Given the description of an element on the screen output the (x, y) to click on. 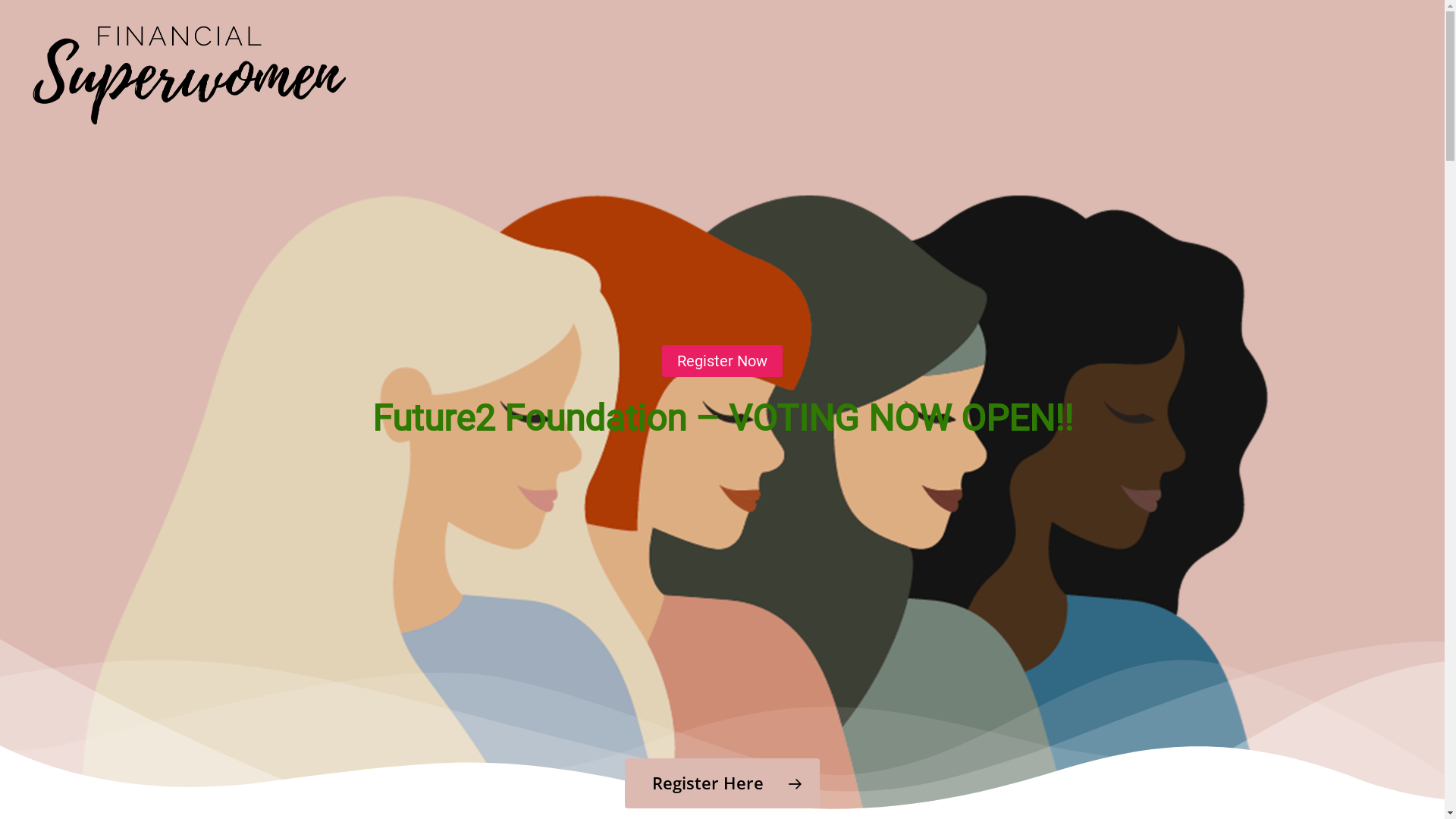
Register Now Element type: text (722, 360)
Register Here Element type: text (721, 783)
